Given the description of an element on the screen output the (x, y) to click on. 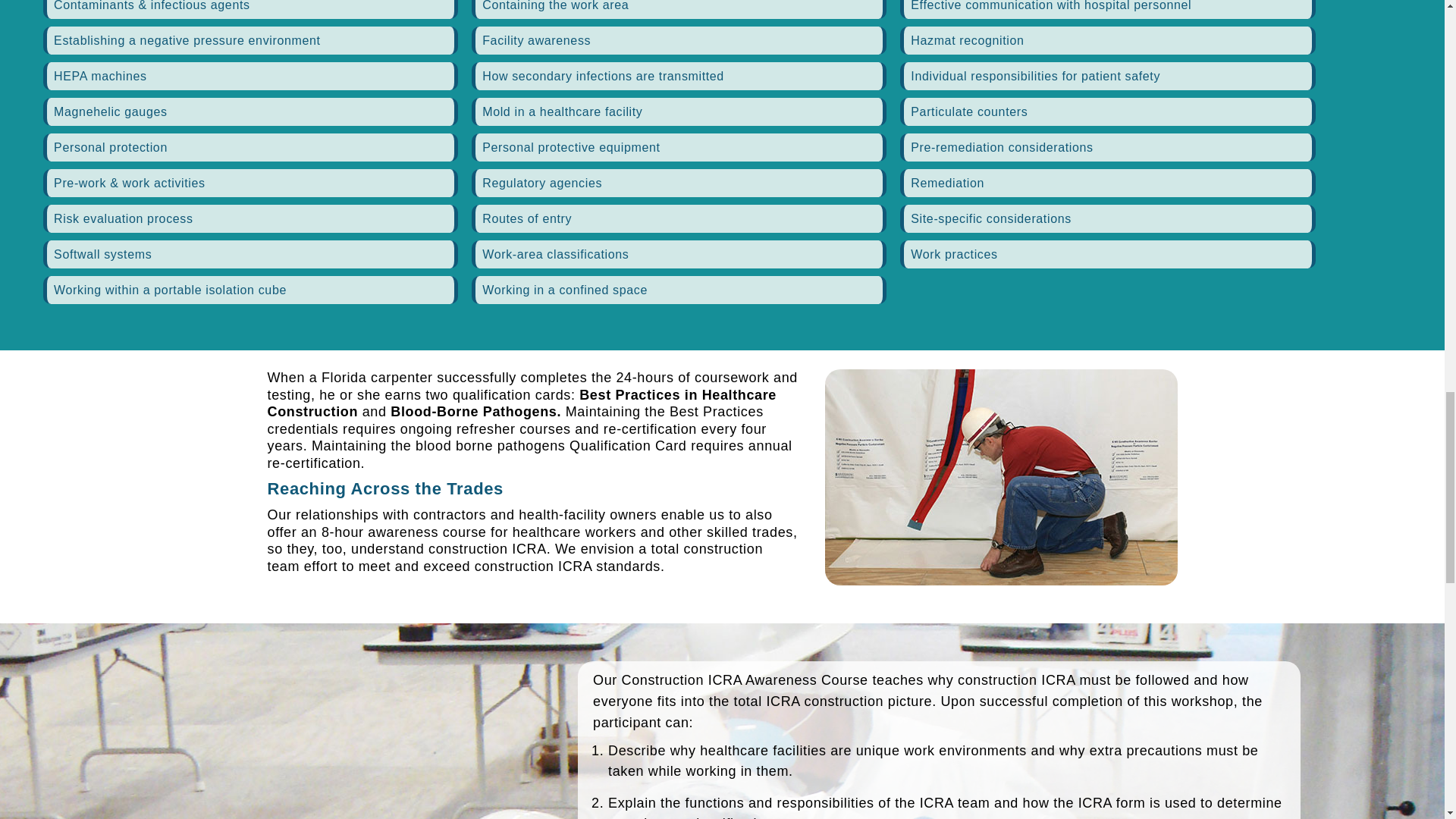
ICRA (1001, 477)
